Given the description of an element on the screen output the (x, y) to click on. 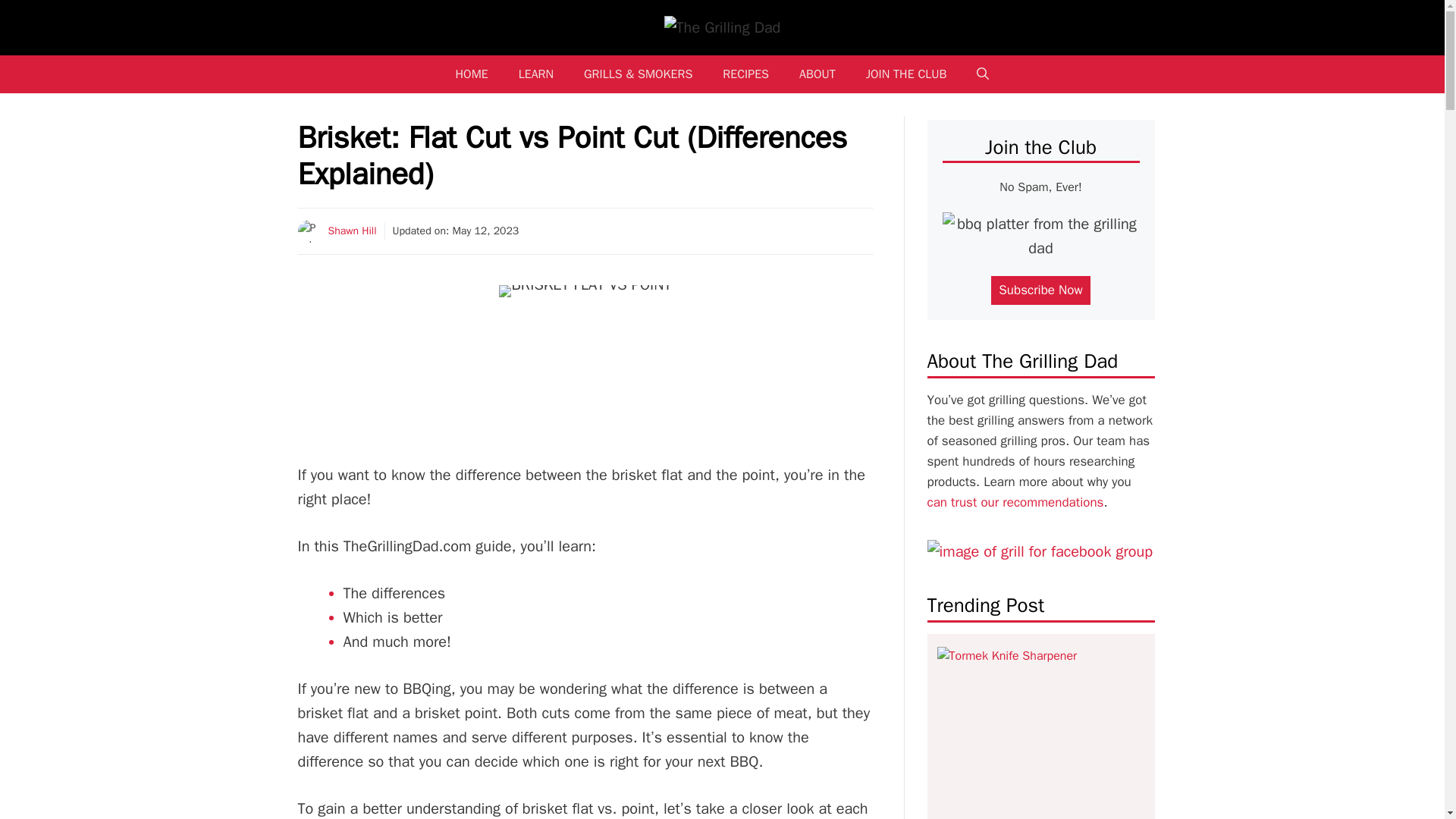
ABOUT (817, 74)
LEARN (536, 74)
JOIN THE CLUB (906, 74)
RECIPES (745, 74)
HOME (472, 74)
Shawn Hill (351, 230)
